Given the description of an element on the screen output the (x, y) to click on. 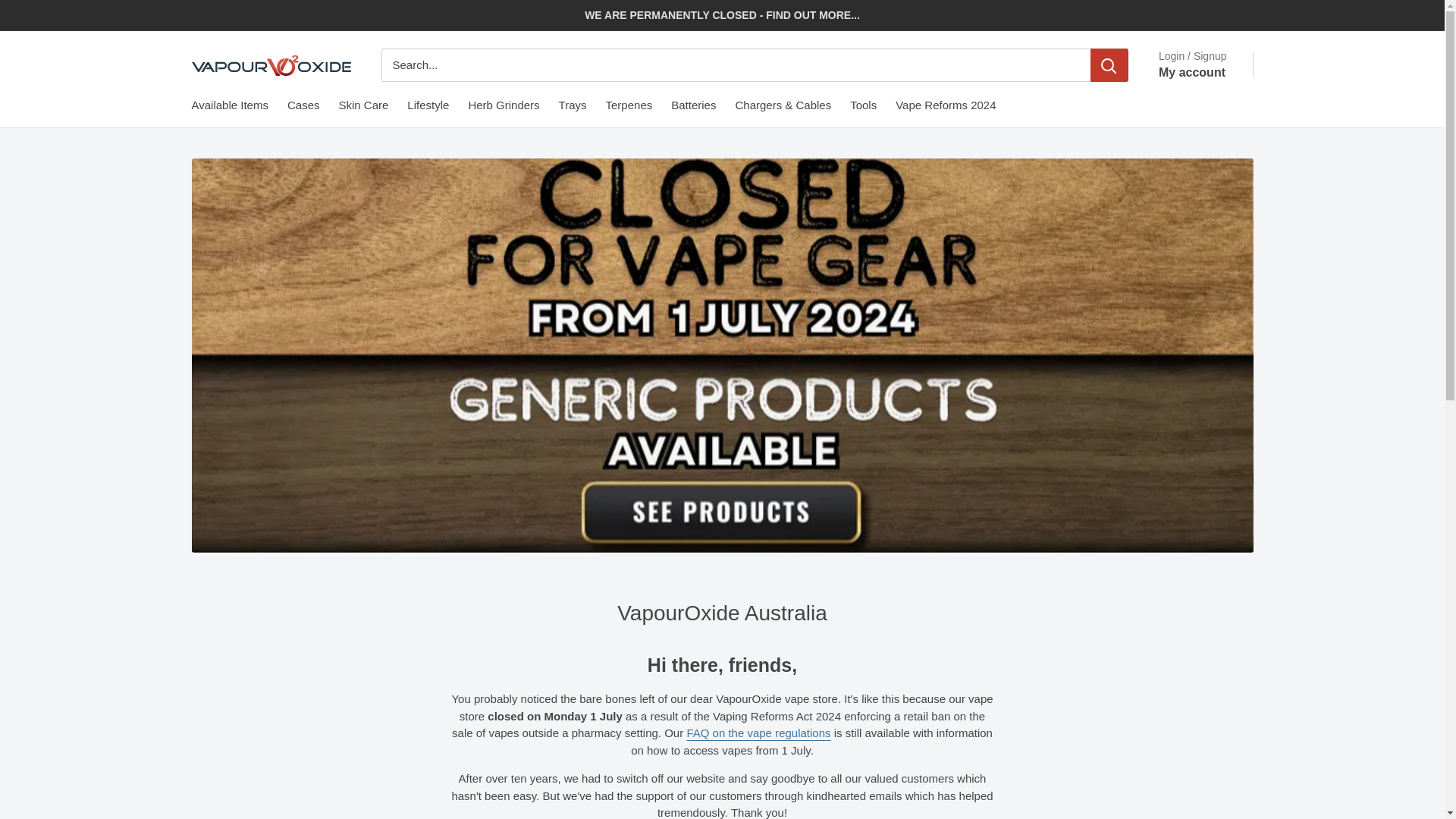
WE ARE PERMANENTLY CLOSED - FIND OUT MORE... (722, 15)
Herb Grinders (502, 105)
We are permanently closed - Find out more... (722, 15)
Available Items (228, 105)
Skin Care (362, 105)
Batteries (693, 105)
Vape Reforms 2024 (945, 105)
VapourOxide Australia (270, 65)
Lifestyle (427, 105)
